Given the description of an element on the screen output the (x, y) to click on. 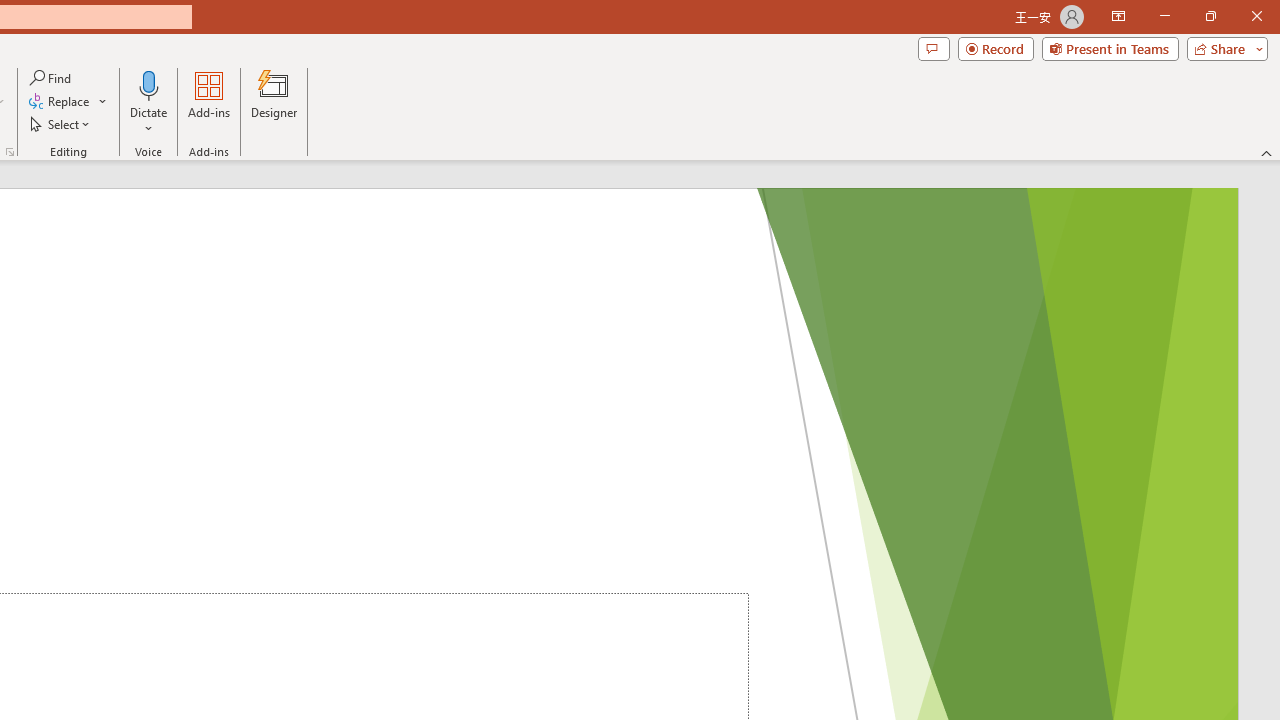
Ribbon Display Options (1118, 16)
Record (995, 48)
Dictate (149, 102)
Replace... (60, 101)
Comments (933, 48)
More Options (149, 121)
Present in Teams (1109, 48)
Share (1223, 48)
Minimize (1164, 16)
Select (61, 124)
Format Object... (9, 151)
Designer (274, 102)
Restore Down (1210, 16)
Dictate (149, 84)
